Given the description of an element on the screen output the (x, y) to click on. 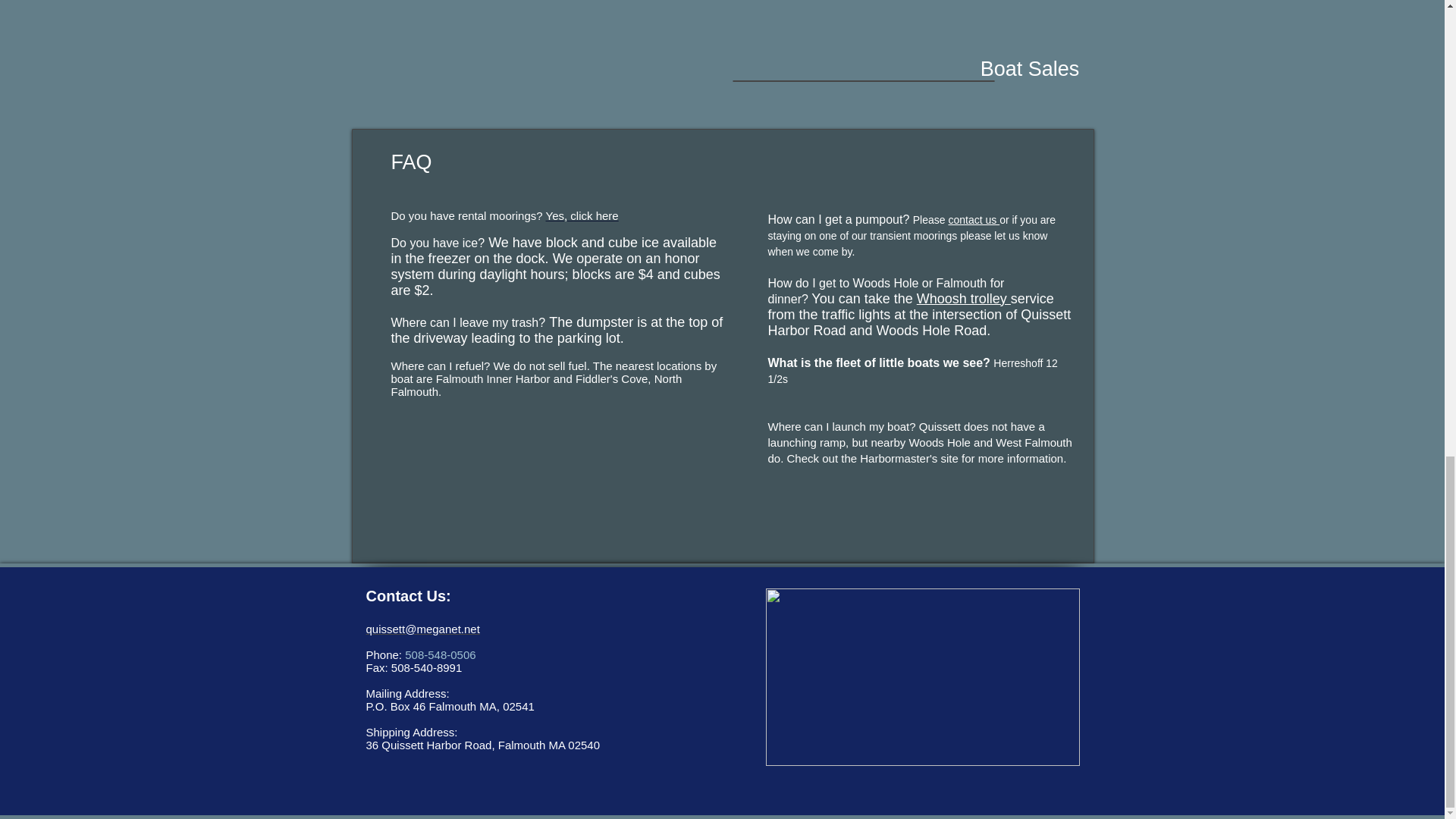
Yes, click here (582, 215)
Whoosh trolley (963, 298)
Quissett Brian Switzer Video.jpg (922, 676)
Boat Sales (1028, 69)
contact us  (972, 219)
